Given the description of an element on the screen output the (x, y) to click on. 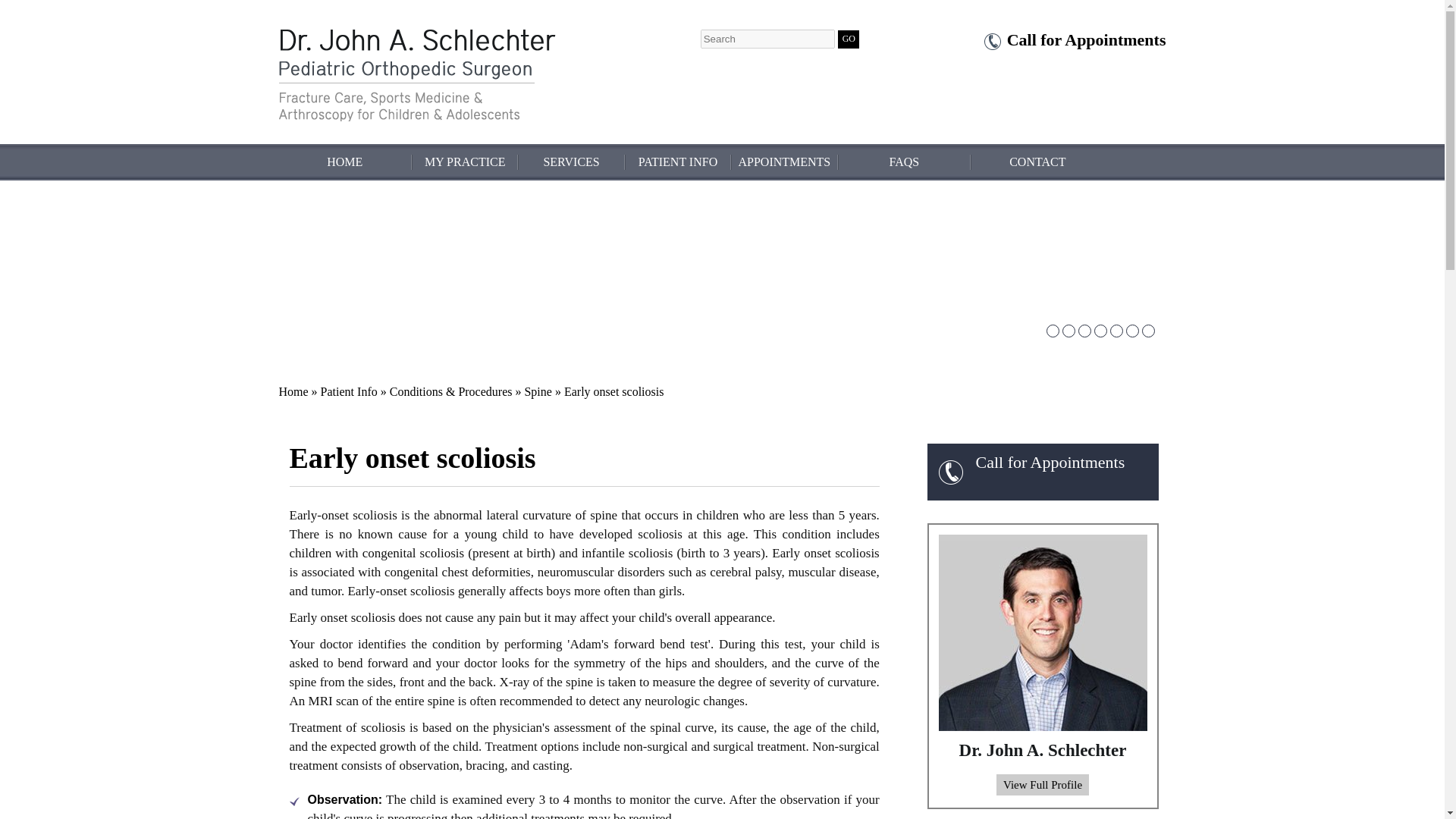
Slider 1 (1052, 330)
Slider 4 (1100, 330)
PATIENT INFO (677, 161)
GO (848, 39)
MY PRACTICE (465, 161)
Slider 2 (1068, 330)
HOME (345, 161)
Slider 3 (1083, 330)
Slider 5 (1115, 330)
Slider 7 (1147, 330)
GO (848, 39)
Slider 6 (1132, 330)
SERVICES (571, 161)
